Given the description of an element on the screen output the (x, y) to click on. 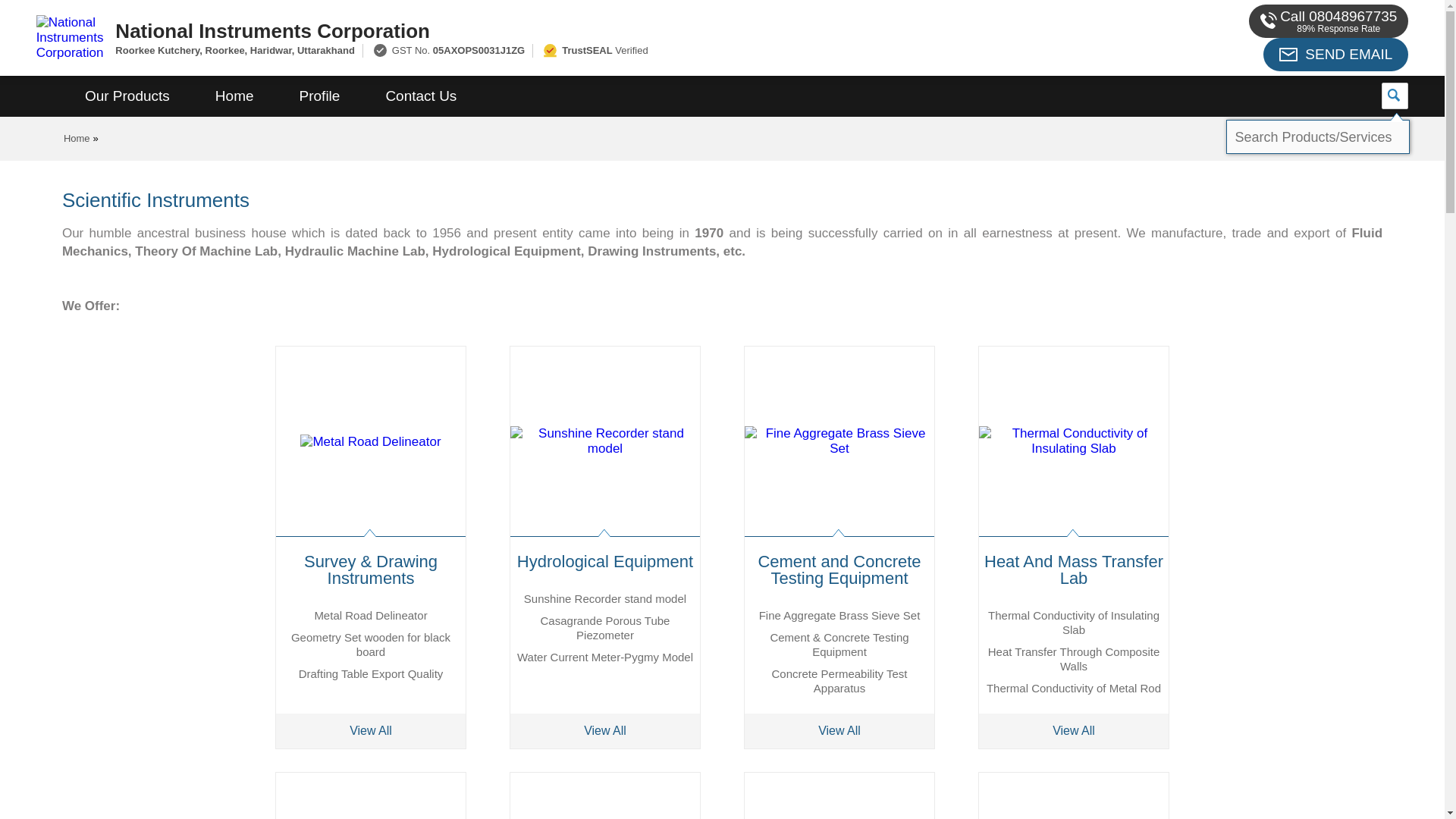
View All (370, 730)
View All (605, 730)
National Instruments Corporation (552, 31)
Metal Road Delineator (370, 615)
Drafting Table Export Quality (371, 673)
Hydrological Equipment (605, 560)
Geometry Set wooden for black board (370, 644)
Our Products (127, 96)
Contact Us (420, 96)
Home (77, 138)
Sunshine Recorder stand model (604, 598)
Casagrande Porous Tube Piezometer (604, 627)
Home (234, 96)
Water Current Meter-Pygmy Model (604, 656)
Cement and Concrete Testing Equipment (839, 569)
